Given the description of an element on the screen output the (x, y) to click on. 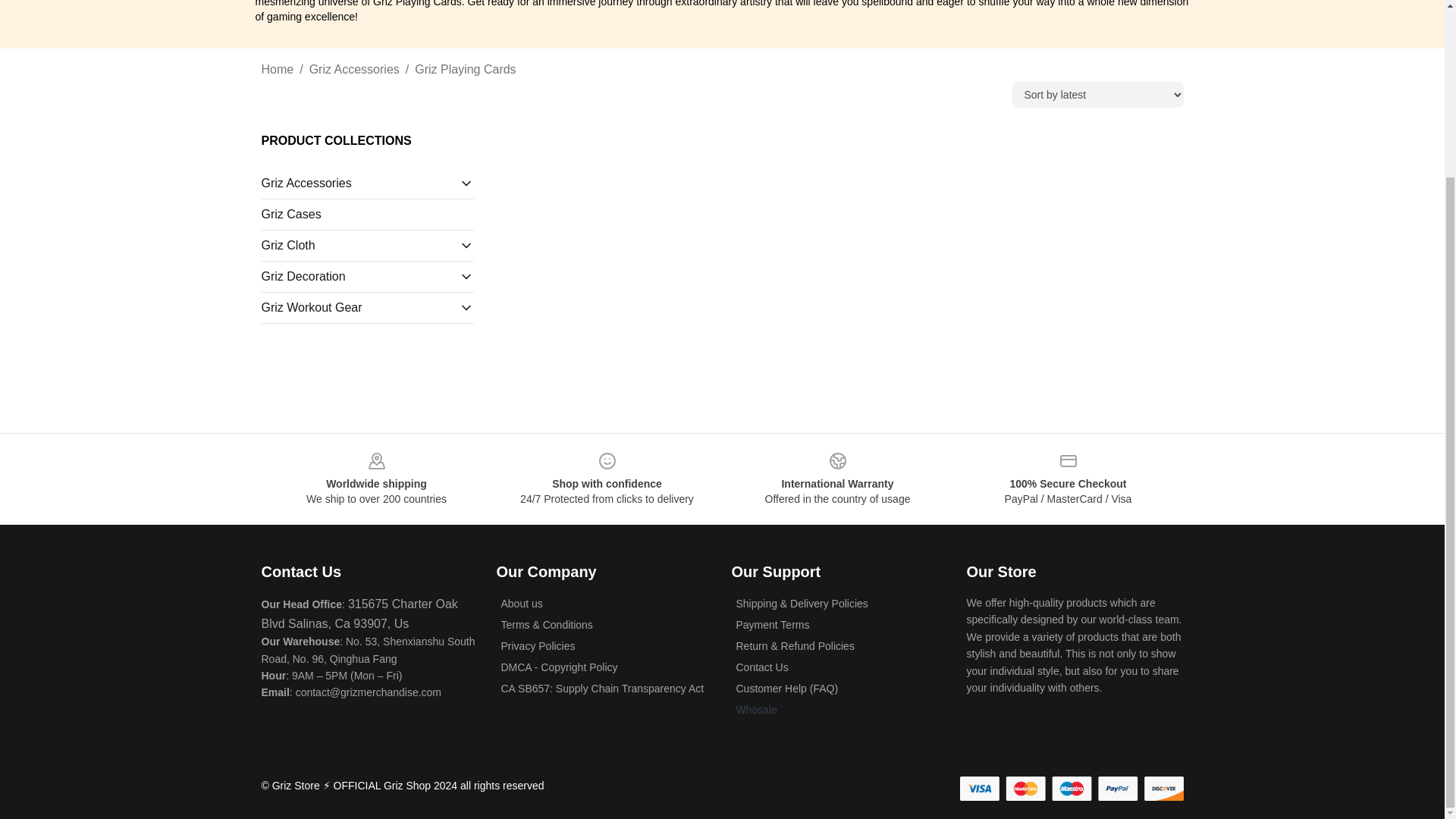
Griz Playing Cards (464, 69)
Griz Accessories (353, 69)
Griz Decoration (359, 276)
Griz Cases (366, 214)
Griz Accessories (359, 183)
Griz Cloth (359, 245)
Home (277, 69)
